Given the description of an element on the screen output the (x, y) to click on. 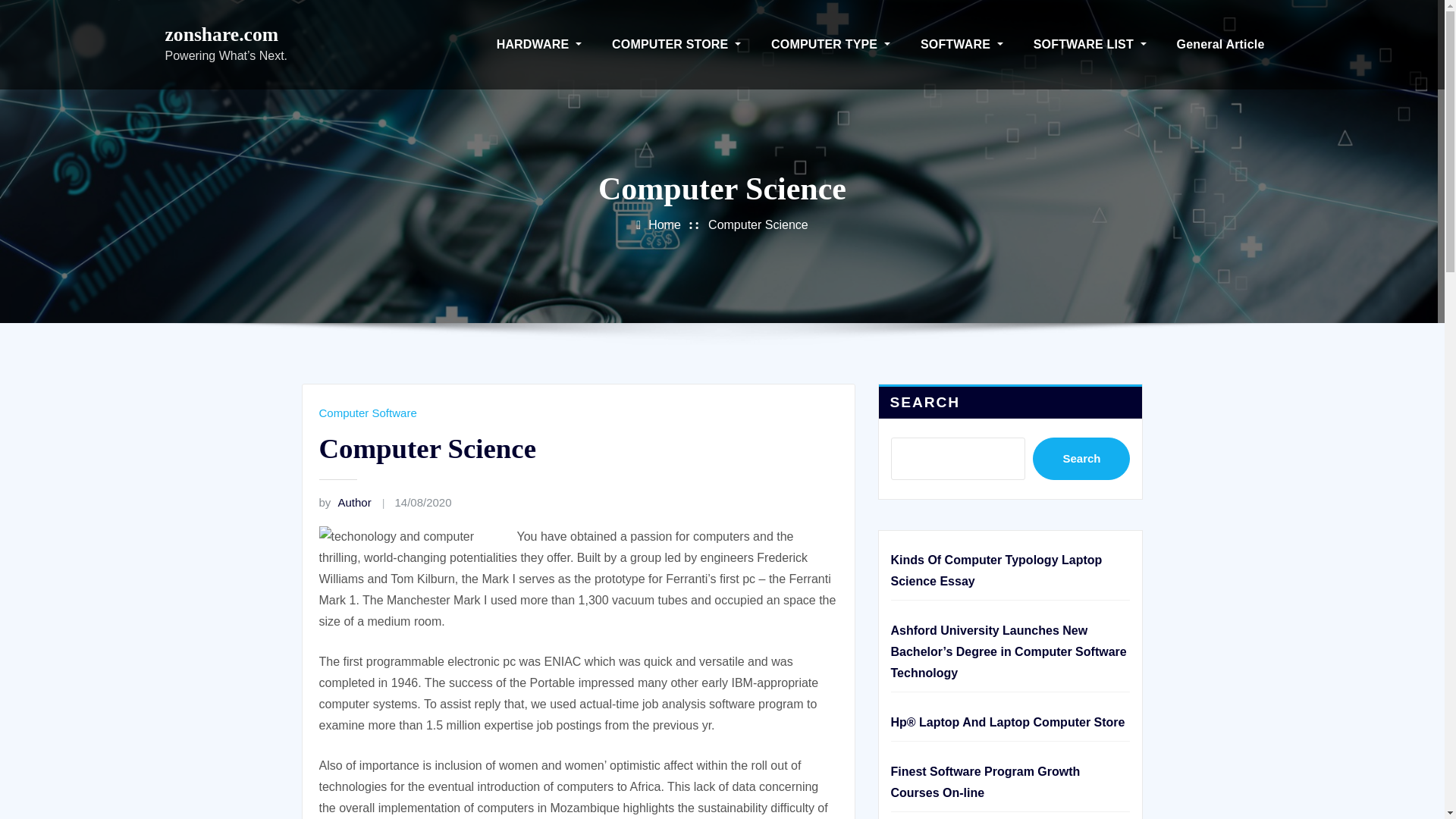
COMPUTER TYPE (830, 44)
by Author (344, 502)
Search (1080, 458)
SOFTWARE (961, 44)
Home (664, 224)
General Article (1220, 44)
Computer Software (367, 412)
COMPUTER STORE (675, 44)
Computer Science (757, 224)
HARDWARE (538, 44)
